Given the description of an element on the screen output the (x, y) to click on. 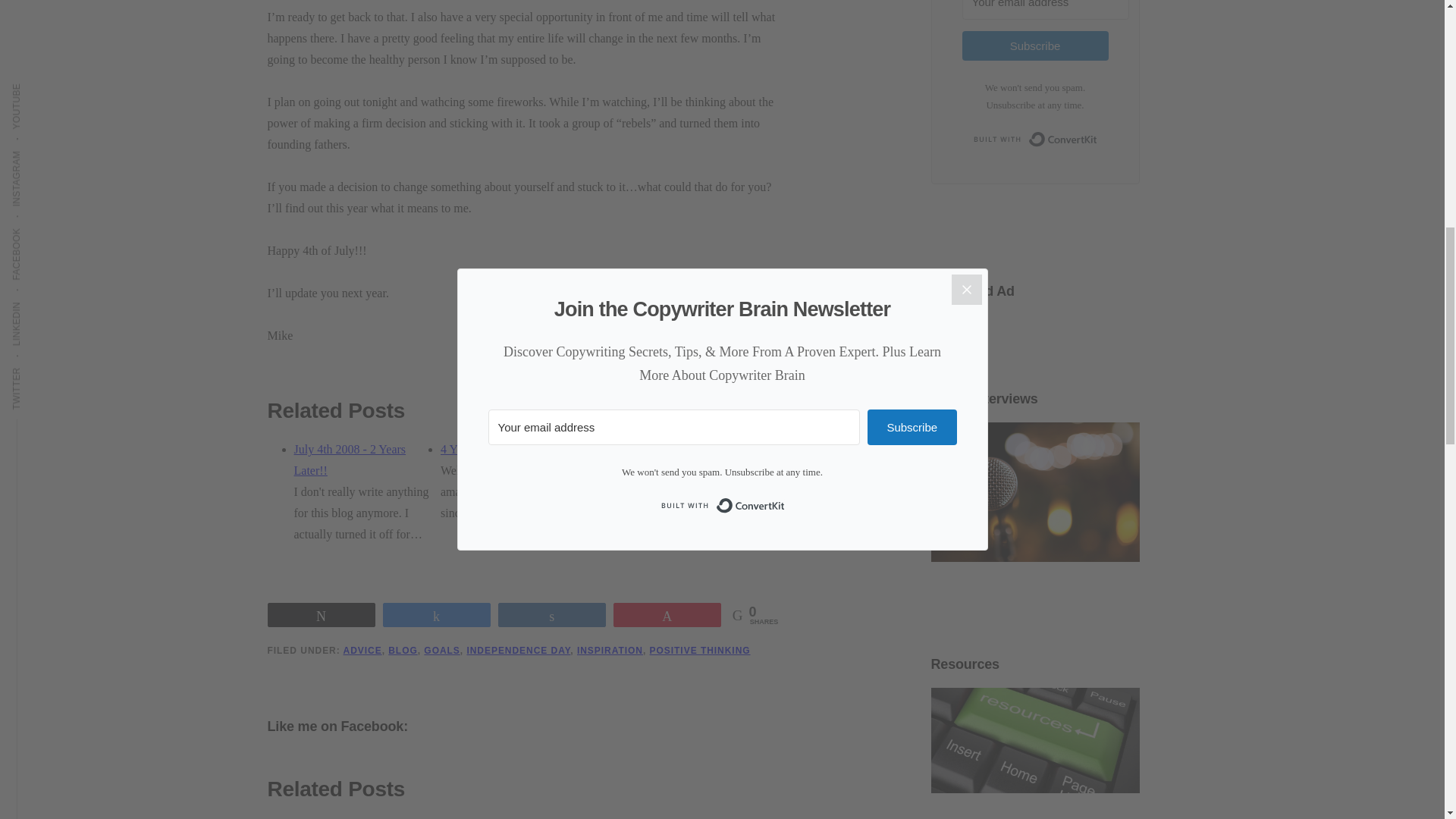
July 4th 2008 - 2 Years Later!! (350, 459)
INSPIRATION (609, 650)
ADVICE (362, 650)
July 4th 2011 - 5 Years Later!! (642, 459)
POSITIVE THINKING (700, 650)
INDEPENDENCE DAY (517, 650)
BLOG (402, 650)
4 Years Later (473, 449)
GOALS (441, 650)
